Given the description of an element on the screen output the (x, y) to click on. 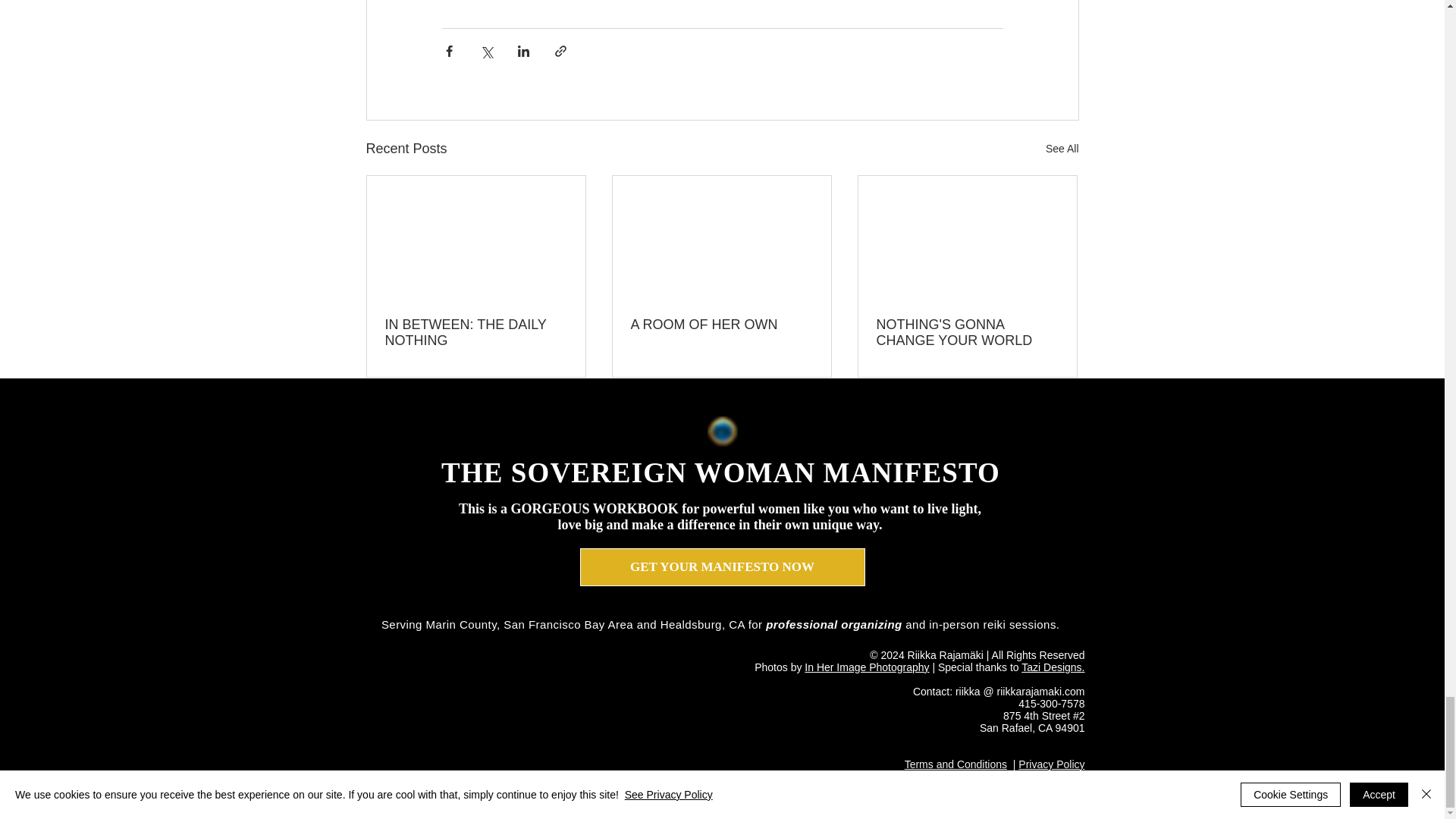
A ROOM OF HER OWN (721, 324)
professional organizing (833, 624)
Privacy Policy (1050, 764)
See All (1061, 148)
GET YOUR MANIFESTO NOW (721, 566)
IN BETWEEN: THE DAILY NOTHING (476, 332)
Tazi Designs. (1053, 666)
Terms and Conditions (955, 764)
NOTHING'S GONNA CHANGE YOUR WORLD (967, 332)
In Her Image Photography (866, 666)
